Given the description of an element on the screen output the (x, y) to click on. 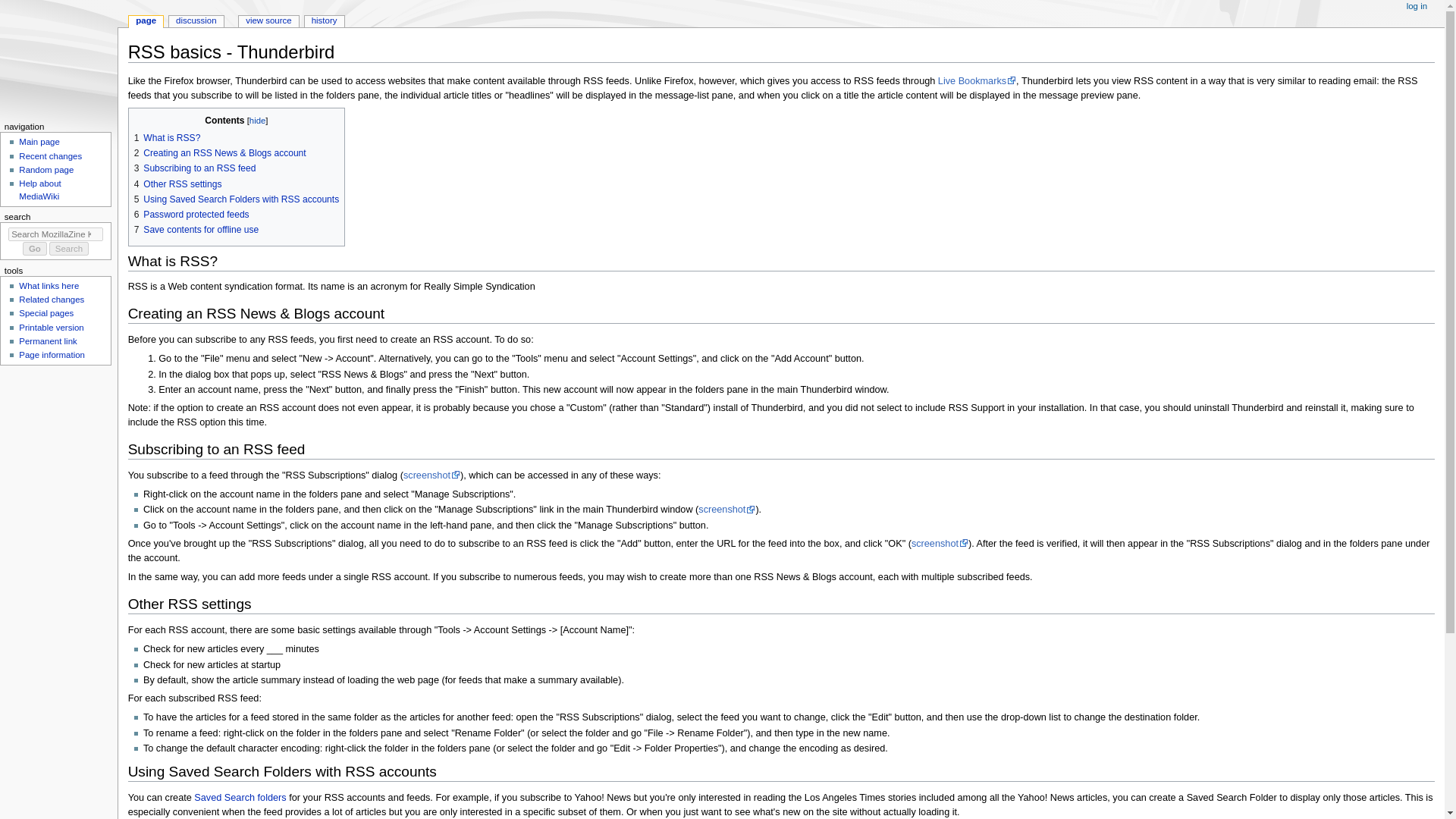
screenshot (431, 475)
discussion (196, 21)
log in (1416, 6)
history (323, 21)
Recent changes (49, 155)
Main page (38, 141)
6 Password protected feeds (190, 214)
Go (34, 248)
page (146, 21)
Saved Search folders (239, 797)
